Given the description of an element on the screen output the (x, y) to click on. 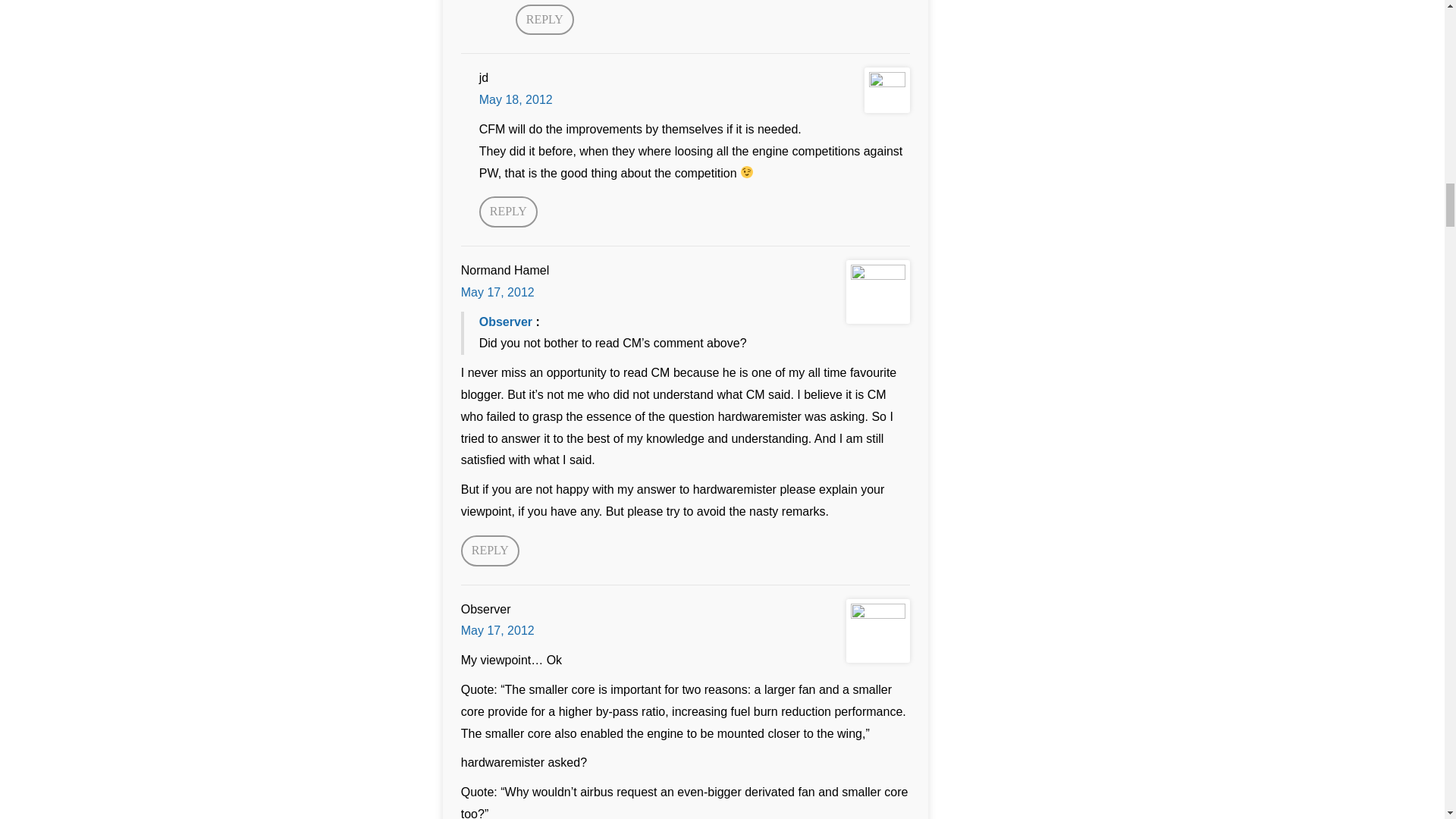
May 18, 2012 (516, 99)
May 17, 2012 (497, 291)
May 17, 2012 (497, 630)
Observer (505, 321)
REPLY (544, 20)
REPLY (508, 211)
REPLY (490, 550)
